Given the description of an element on the screen output the (x, y) to click on. 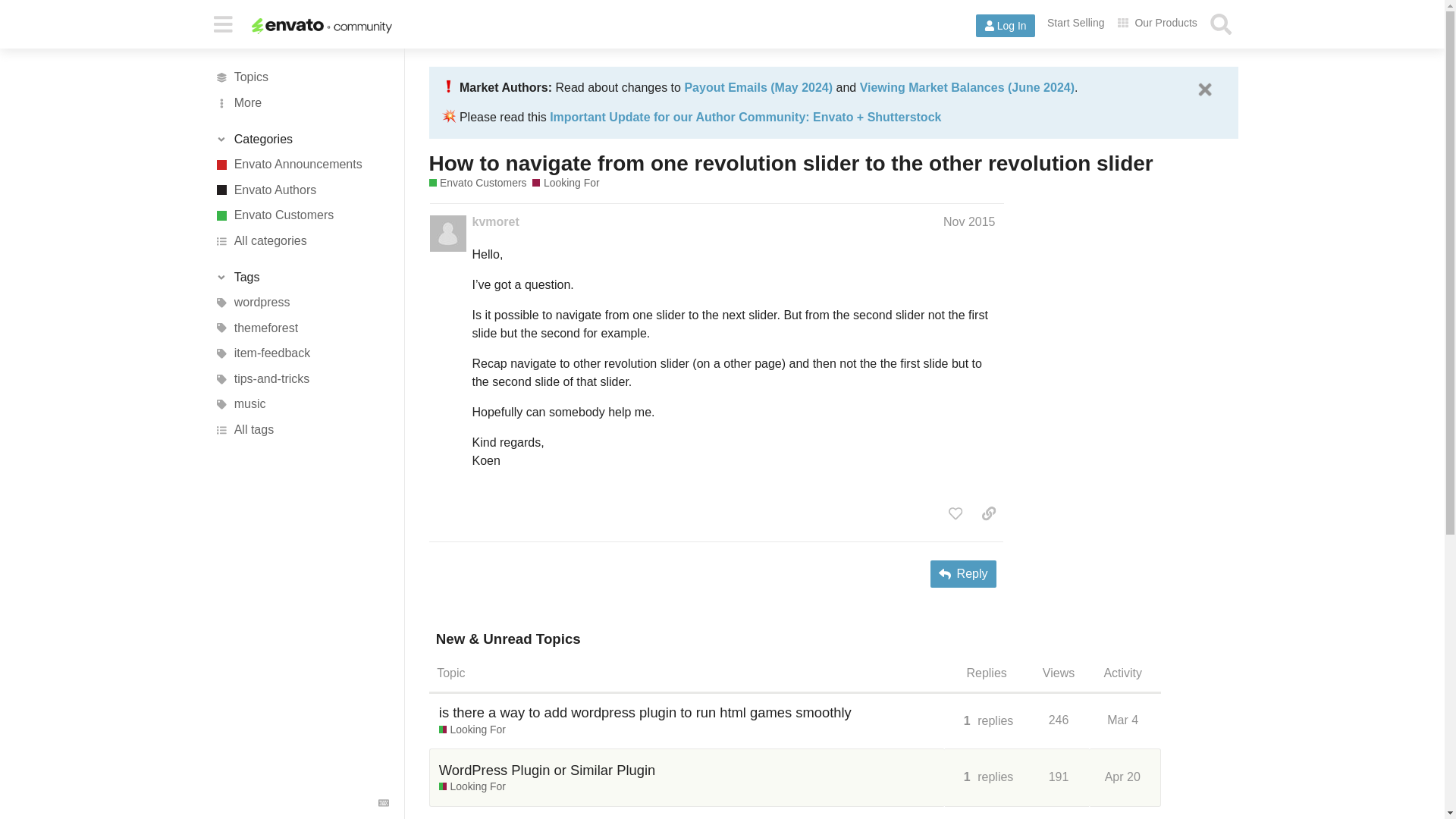
Looking For (565, 183)
music (301, 404)
wordpress (301, 302)
All tags (301, 429)
Keyboard Shortcuts (384, 802)
Sidebar (222, 23)
:exclamation: (449, 86)
Search (1220, 23)
Envato Customers (301, 216)
Log In (1005, 25)
Start Selling (1075, 22)
Envato Authors (301, 190)
Toggle section (301, 277)
tips-and-tricks (301, 379)
Categories (301, 139)
